Given the description of an element on the screen output the (x, y) to click on. 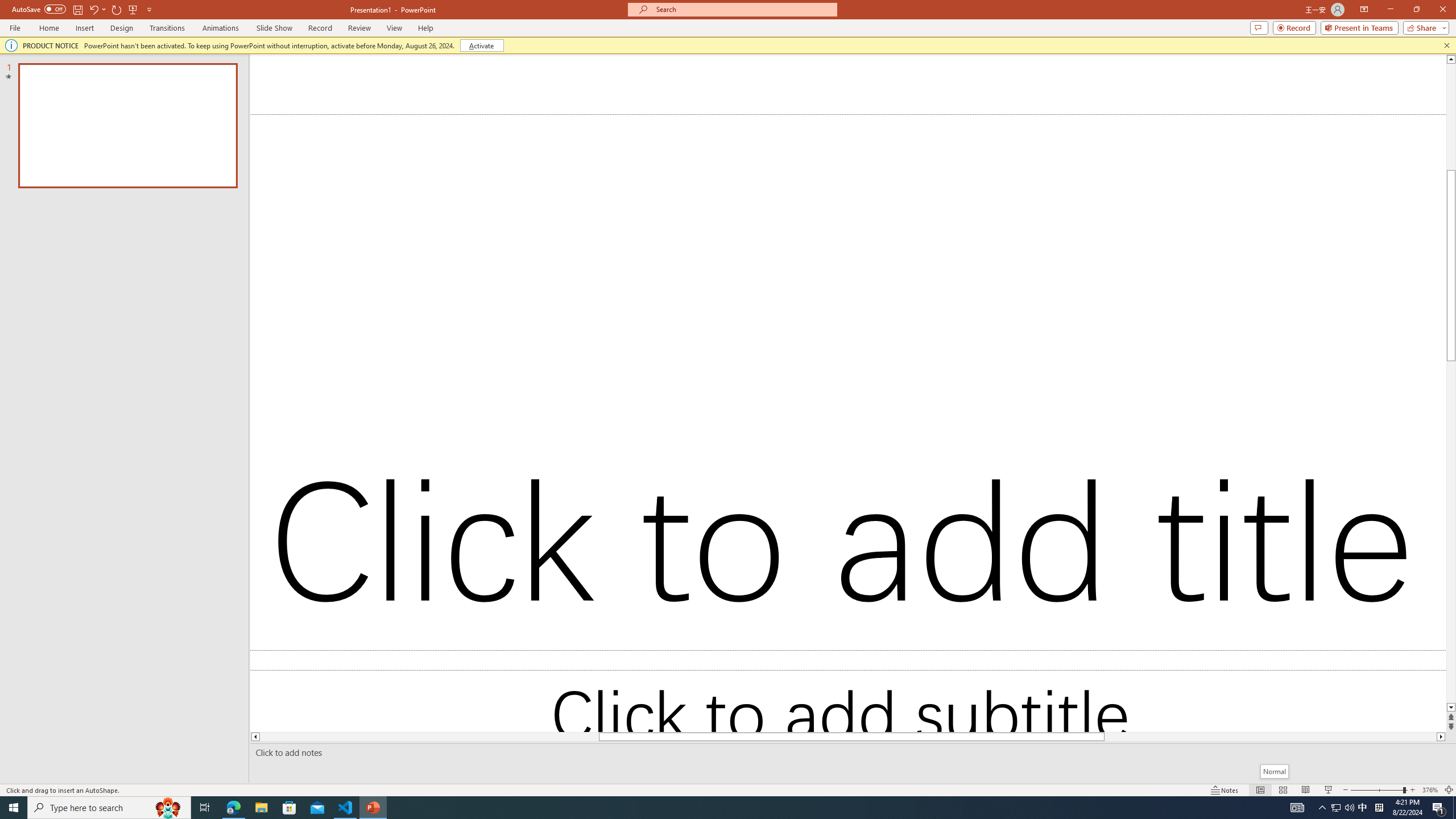
Activate (481, 45)
